Given the description of an element on the screen output the (x, y) to click on. 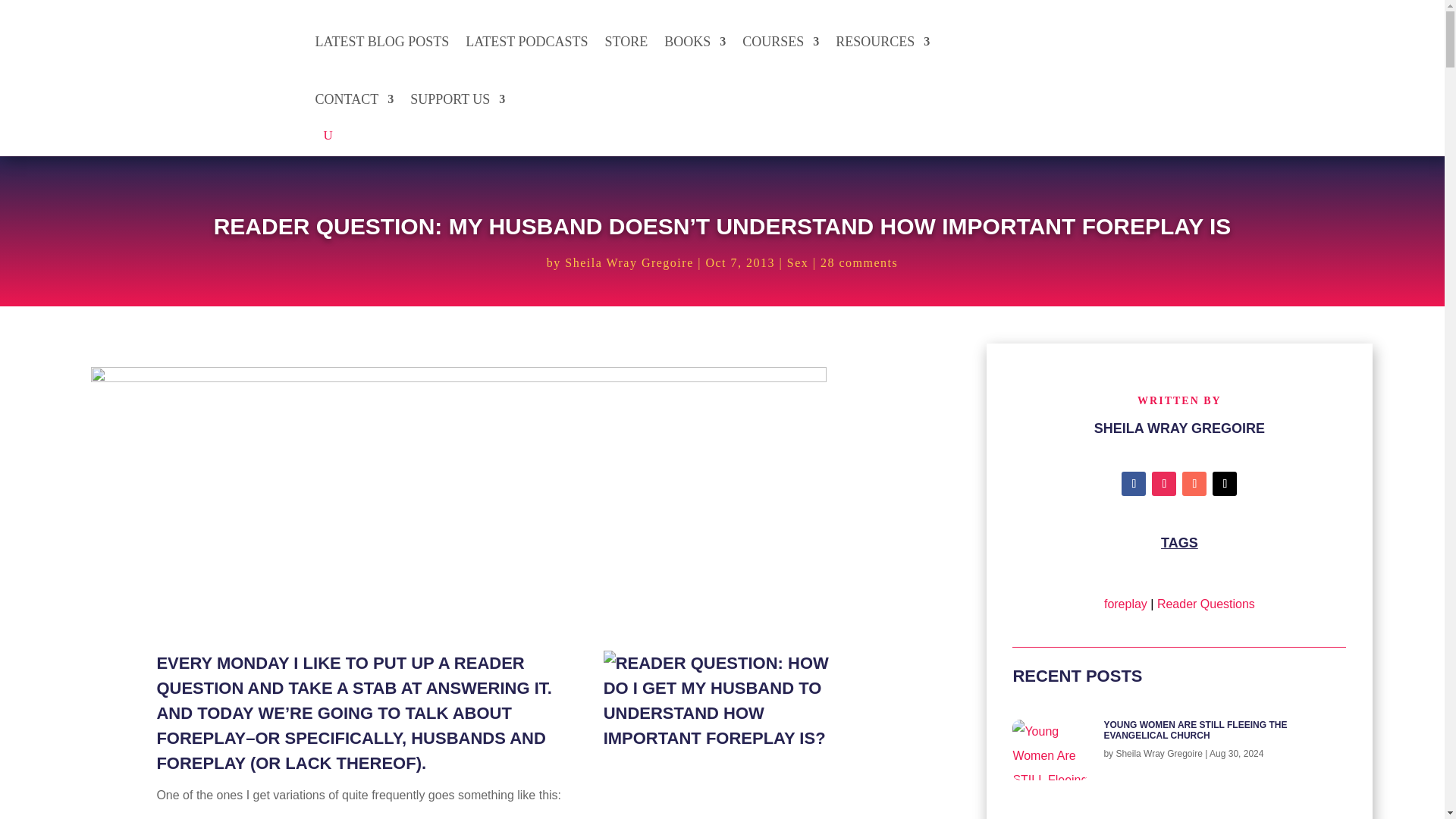
Follow on Instagram (1163, 483)
BOOKS (694, 41)
LATEST BLOG POSTS (382, 41)
COURSES (780, 41)
LATEST PODCASTS (526, 41)
Posts by Sheila Wray Gregoire (1158, 753)
RESOURCES (882, 41)
Follow on Facebook (1133, 483)
Follow on Patreon (1194, 483)
Posts by Sheila Wray Gregoire (628, 262)
